Given the description of an element on the screen output the (x, y) to click on. 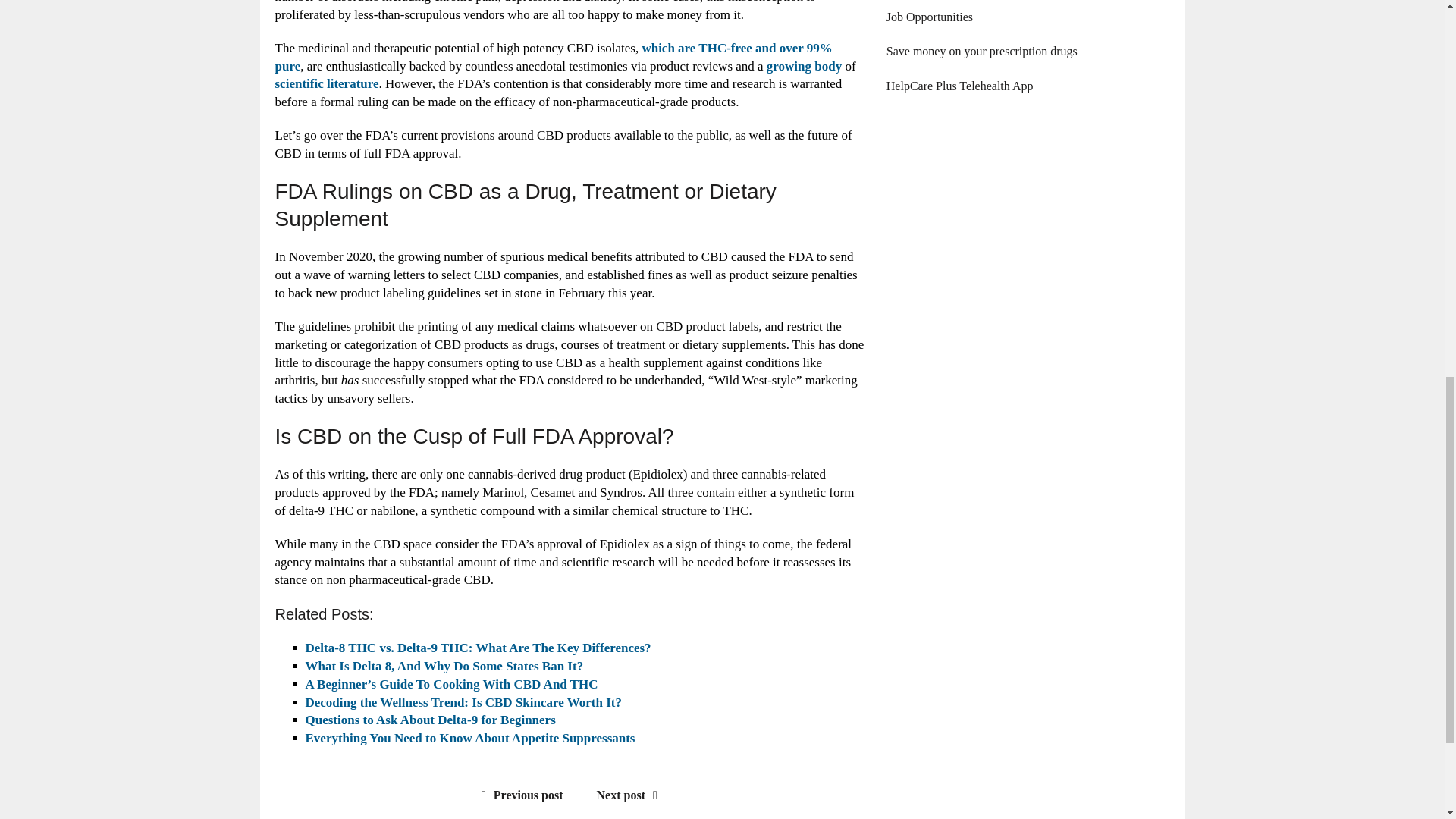
Save money on your prescription drugs (981, 51)
Next post (630, 794)
Job Opportunities (929, 16)
Delta-8 THC vs. Delta-9 THC: What Are The Key Differences? (477, 647)
What Is Delta 8, And Why Do Some States Ban It? (443, 666)
growing body (804, 65)
Questions to Ask About Delta-9 for Beginners (429, 719)
Everything You Need to Know About Appetite Suppressants (469, 738)
Decoding the Wellness Trend: Is CBD Skincare Worth It? (462, 702)
scientific literature (326, 83)
Previous post (518, 794)
